Given the description of an element on the screen output the (x, y) to click on. 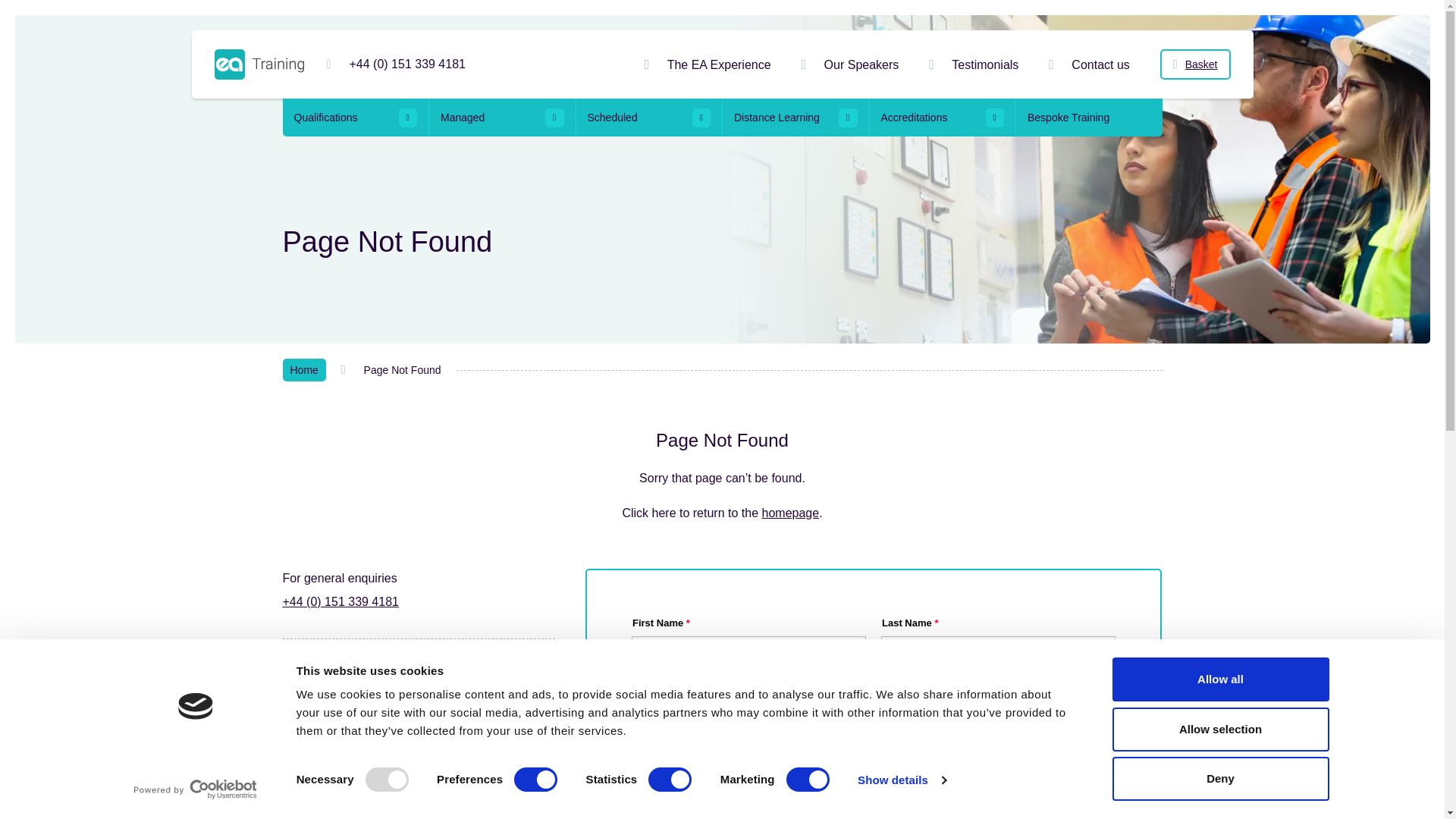
Show details (900, 780)
Home (789, 512)
Back to the homepage (258, 64)
